Given the description of an element on the screen output the (x, y) to click on. 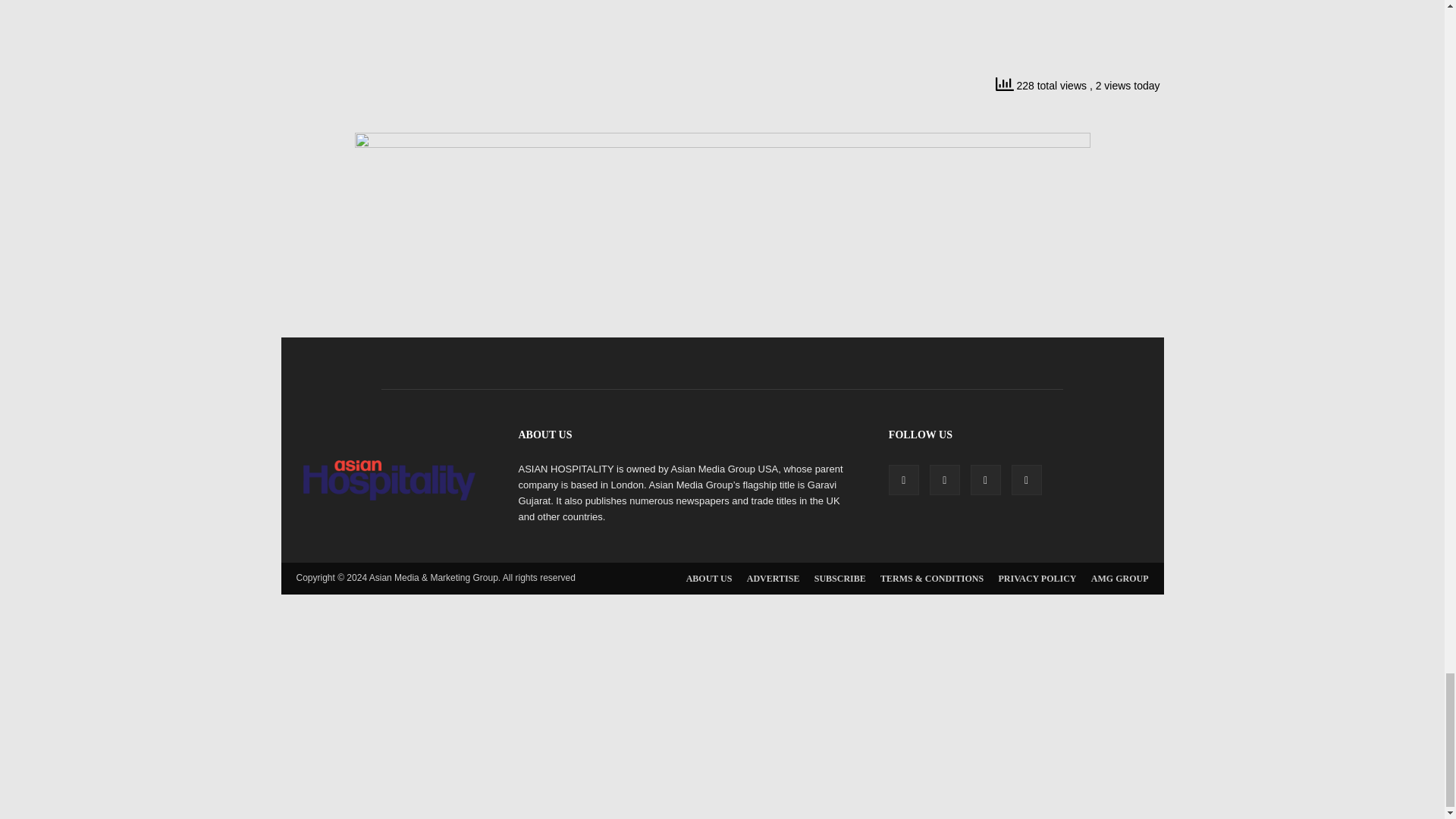
Twitter (986, 480)
Youtube (1026, 480)
Linkedin (944, 480)
Facebook (903, 480)
